Given the description of an element on the screen output the (x, y) to click on. 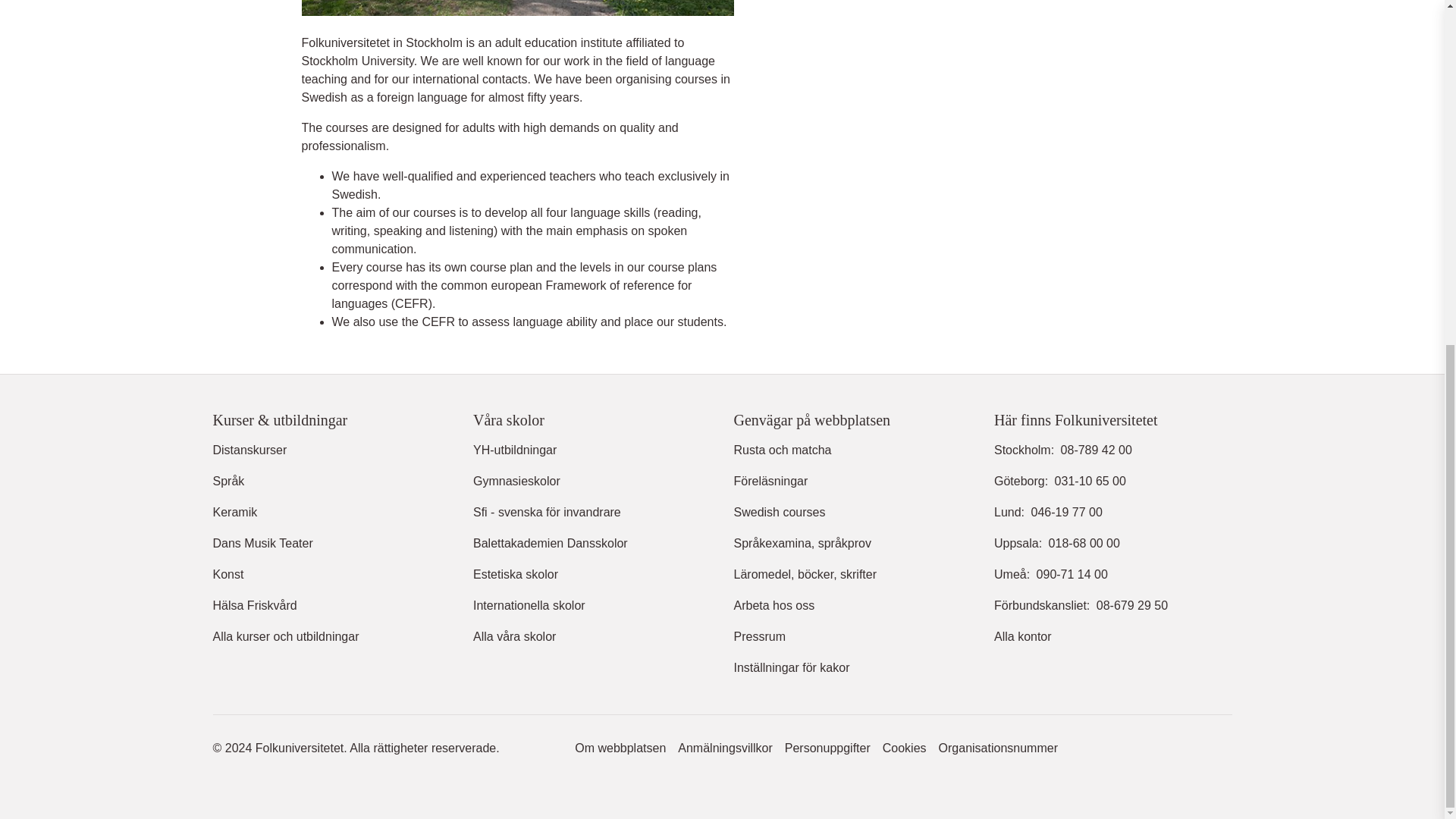
Distanskurser (249, 450)
Konst (227, 574)
Dans Musik Teater (262, 543)
Alla kurser och utbildningar (285, 637)
Keramik (234, 512)
